Given the description of an element on the screen output the (x, y) to click on. 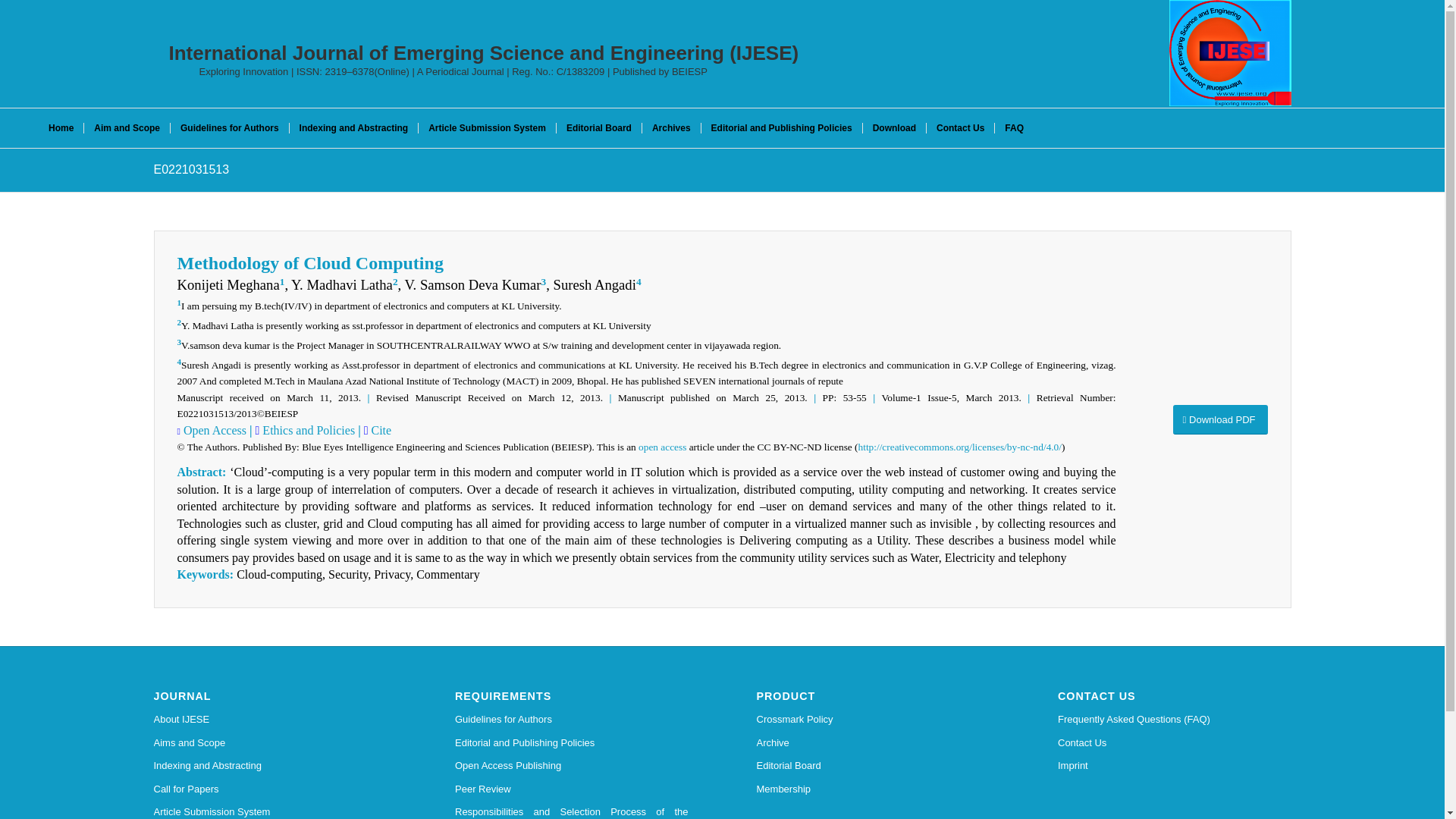
E0221031513 (190, 169)
Archive (873, 743)
open access (662, 446)
Aims and Scope (269, 743)
About IJESE (269, 719)
Home (60, 127)
Indexing and Abstracting (269, 765)
Editorial and Publishing Policies (571, 743)
Call for Papers (269, 789)
Download (893, 127)
